Given the description of an element on the screen output the (x, y) to click on. 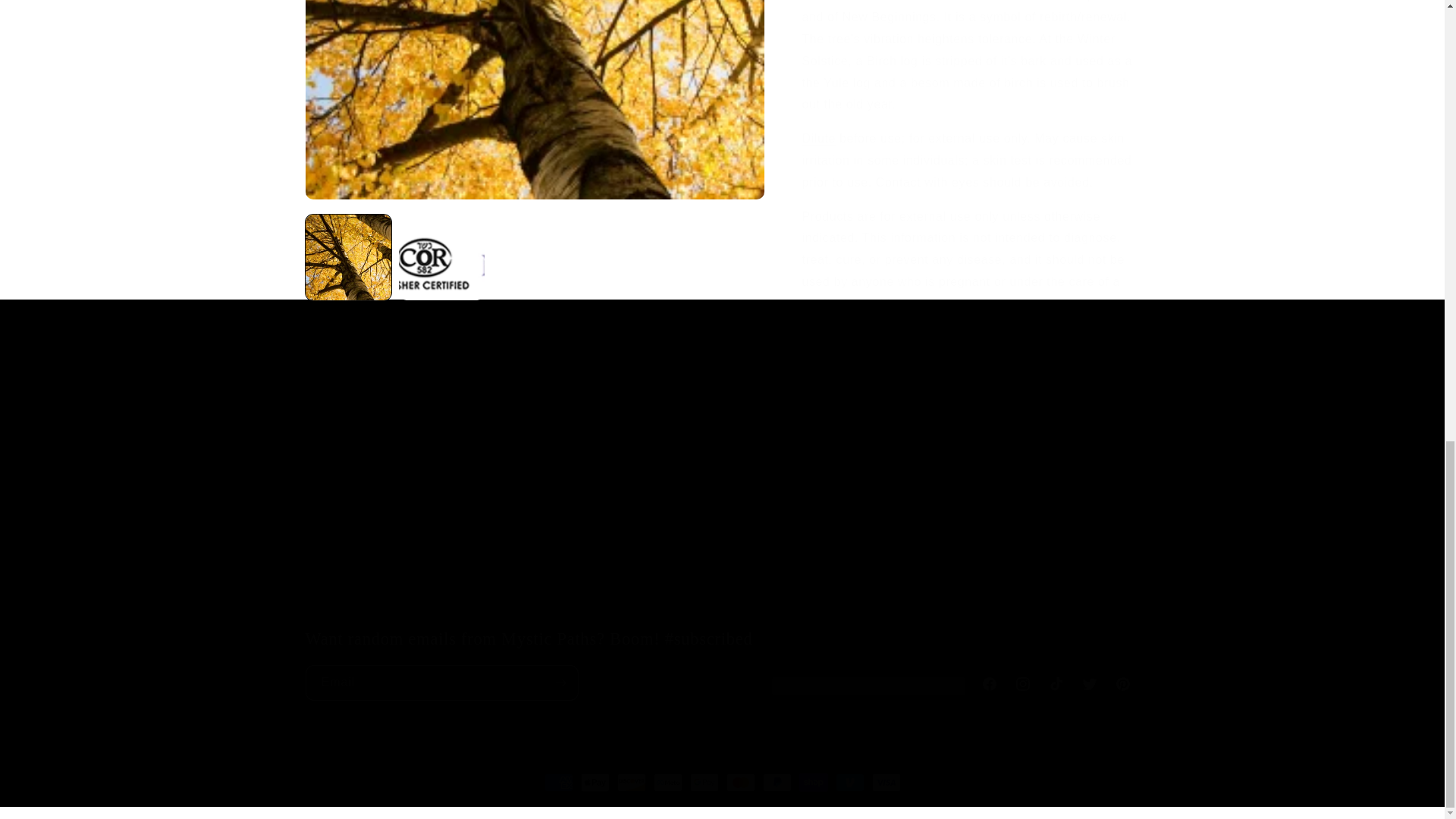
Dilute (818, 119)
About Us (1099, 427)
Events (939, 391)
